Given the description of an element on the screen output the (x, y) to click on. 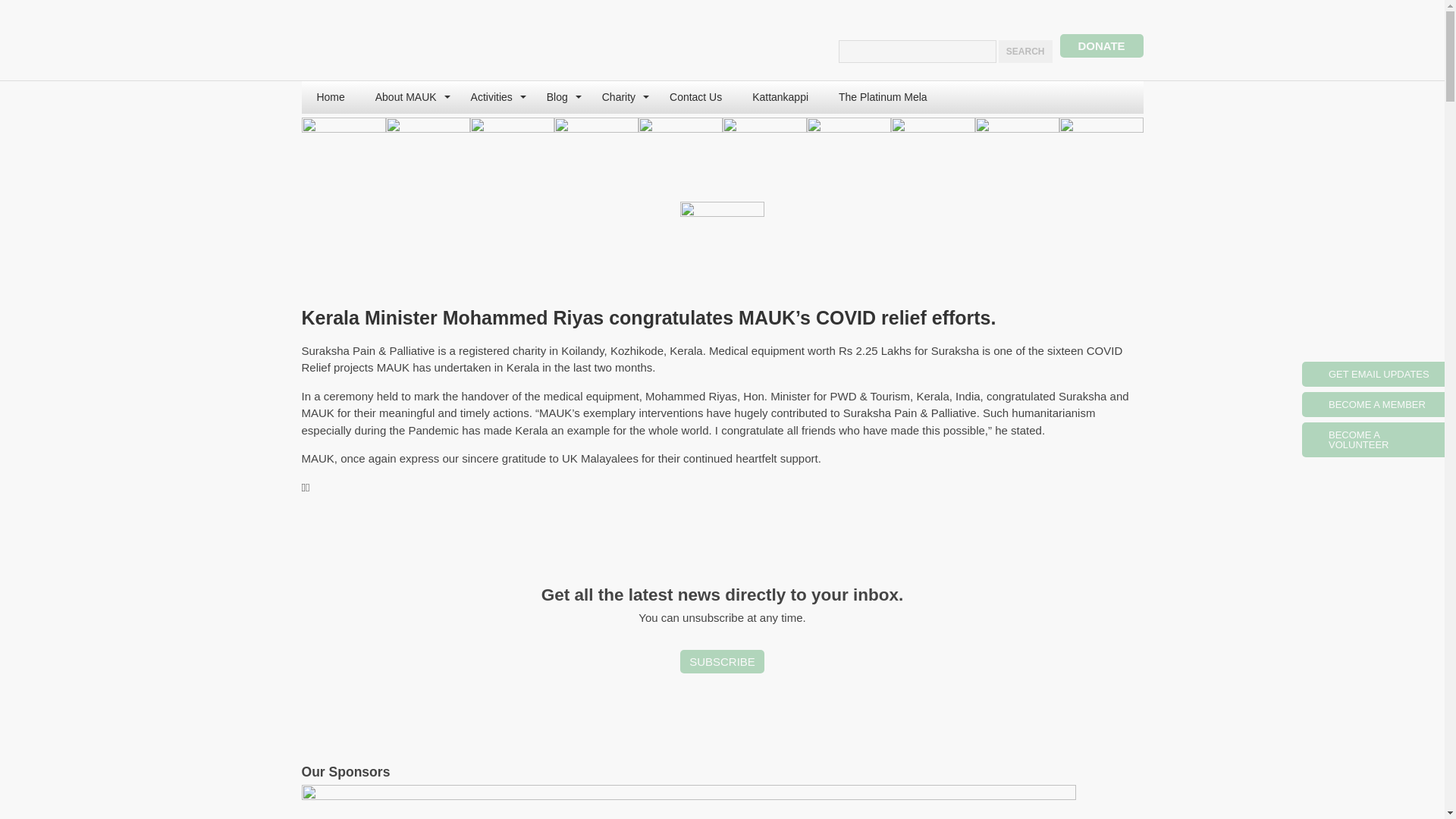
Home (330, 97)
DONATE (1100, 45)
DONATE (1100, 45)
SEARCH (1025, 51)
About MAUK (407, 97)
